Given the description of an element on the screen output the (x, y) to click on. 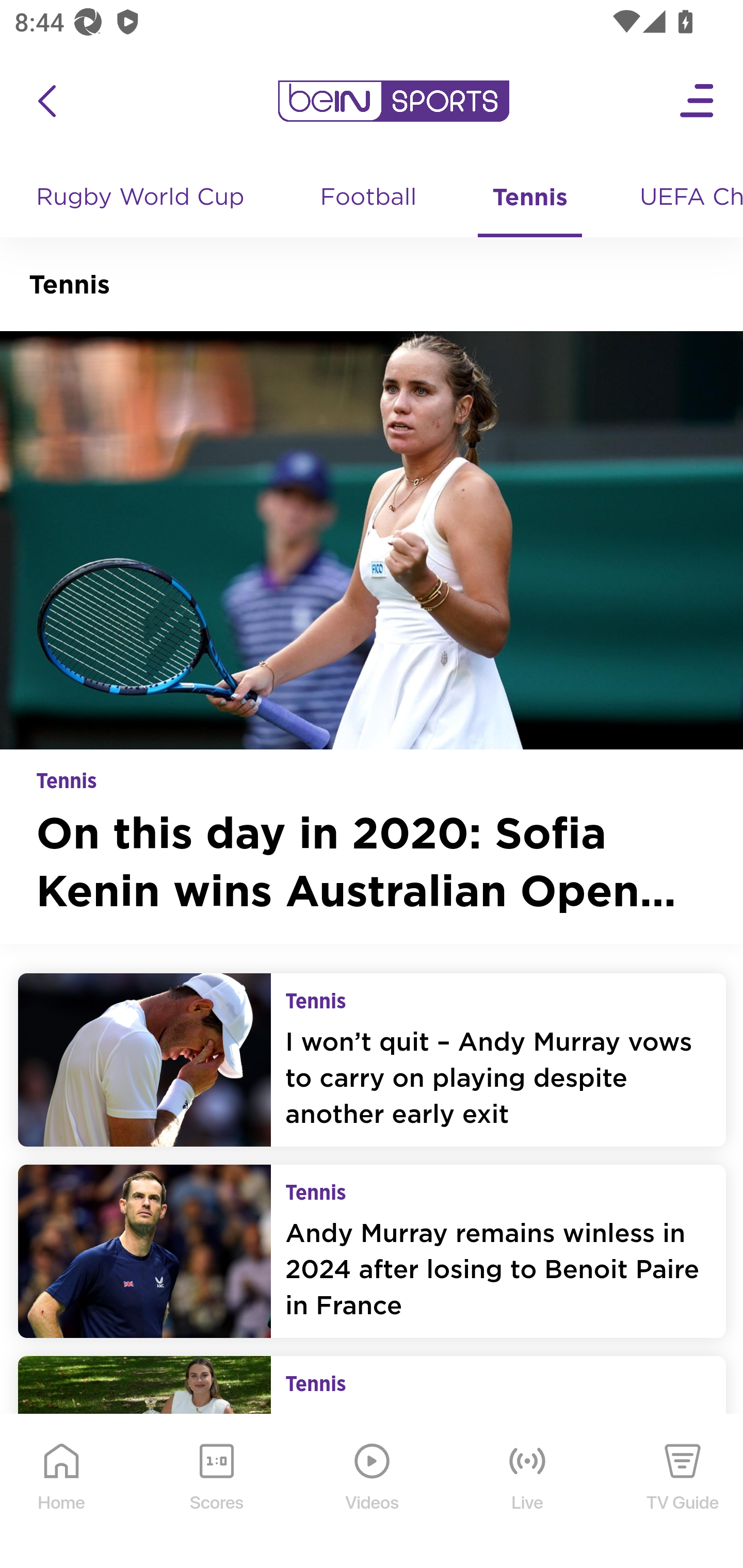
en-my?platform=mobile_android bein logo (392, 101)
icon back (46, 101)
Open Menu Icon (697, 101)
Rugby World Cup (142, 198)
Football (369, 198)
Tennis (530, 198)
UEFA Champions League (683, 198)
Home Home Icon Home (61, 1491)
Scores Scores Icon Scores (216, 1491)
Videos Videos Icon Videos (372, 1491)
TV Guide TV Guide Icon TV Guide (682, 1491)
